Given the description of an element on the screen output the (x, y) to click on. 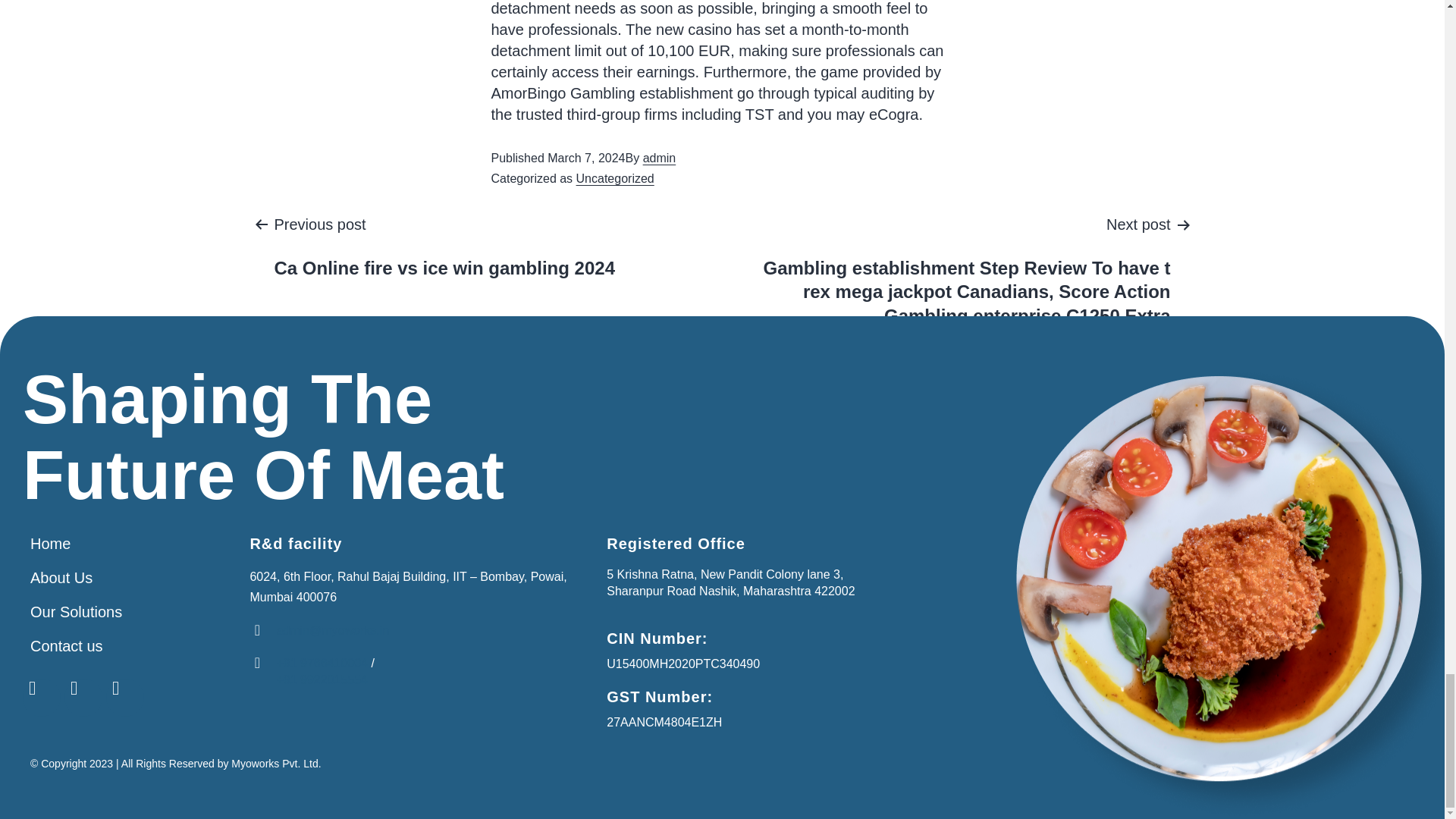
Contact us (132, 646)
About Us (132, 578)
Uncategorized (443, 245)
Home (614, 178)
Our Solutions (132, 544)
admin (132, 612)
